Given the description of an element on the screen output the (x, y) to click on. 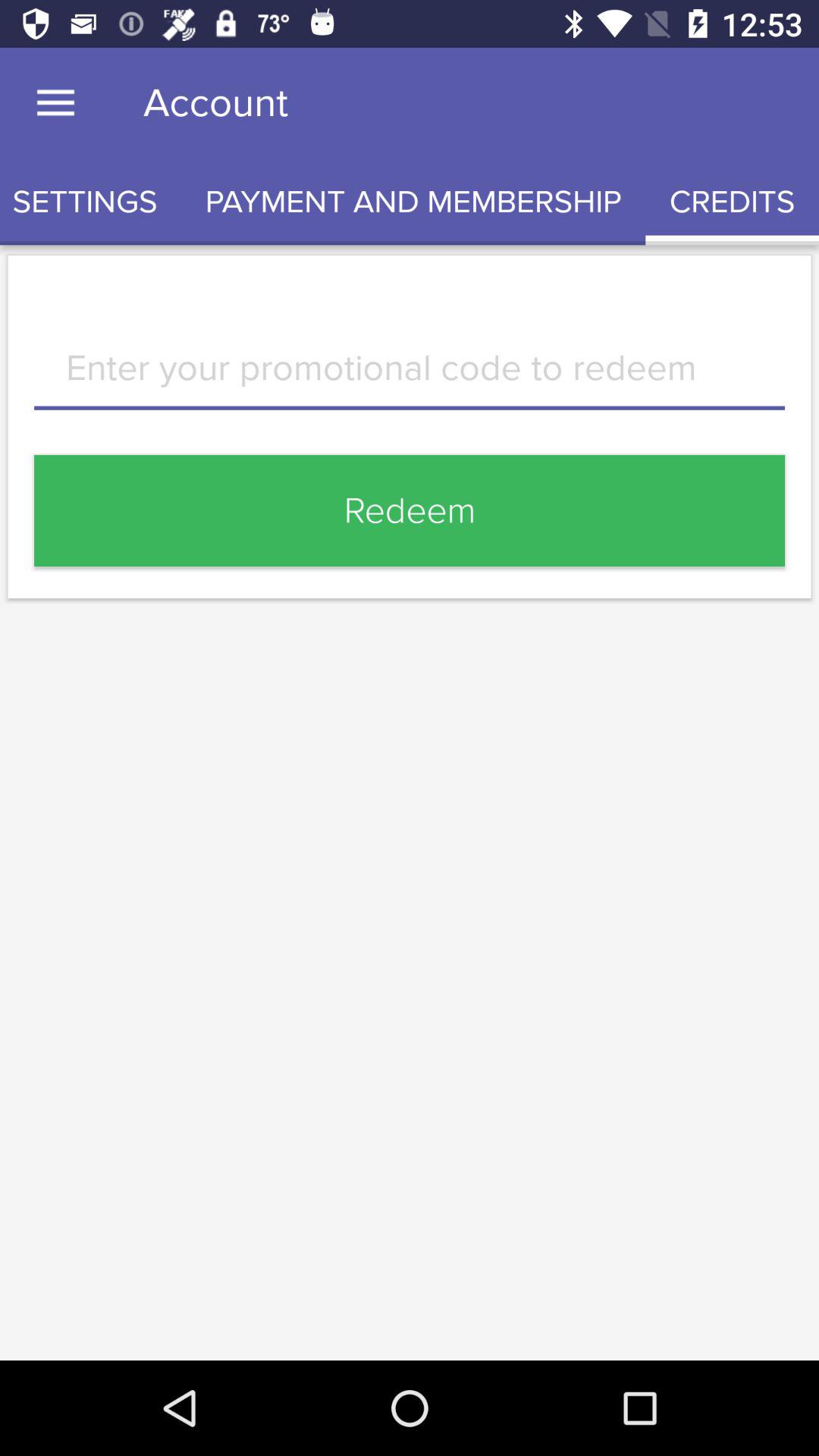
turn off the item next to the payment and membership (732, 202)
